Given the description of an element on the screen output the (x, y) to click on. 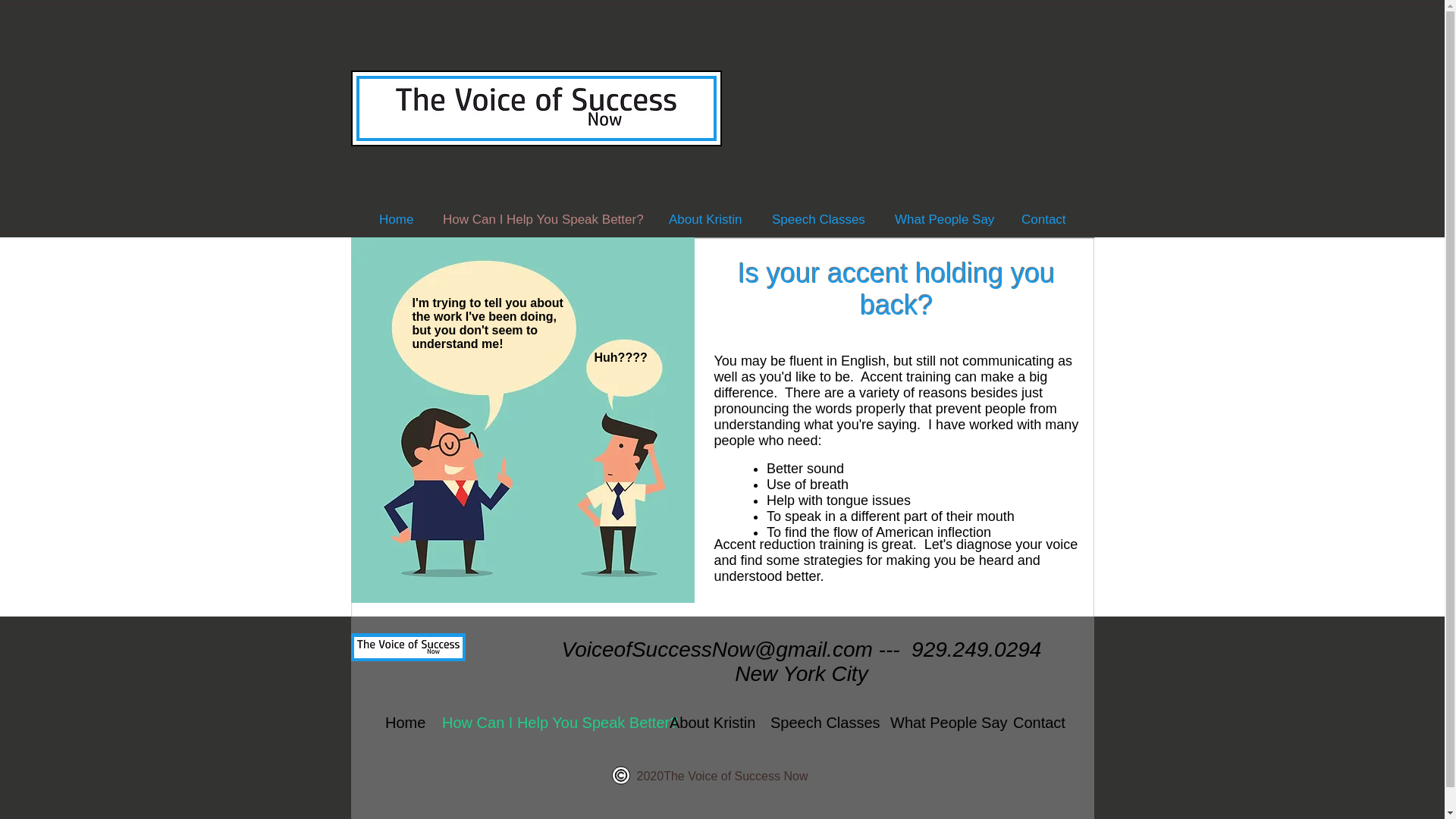
About Kristin (705, 219)
What People Say (940, 722)
929.249.0294 (976, 649)
Speech Classes (818, 722)
Contact (1035, 722)
Speech Classes (818, 219)
Home (402, 722)
Home (396, 219)
How Can I Help You Speak Better? (544, 722)
What People Say (942, 219)
